Given the description of an element on the screen output the (x, y) to click on. 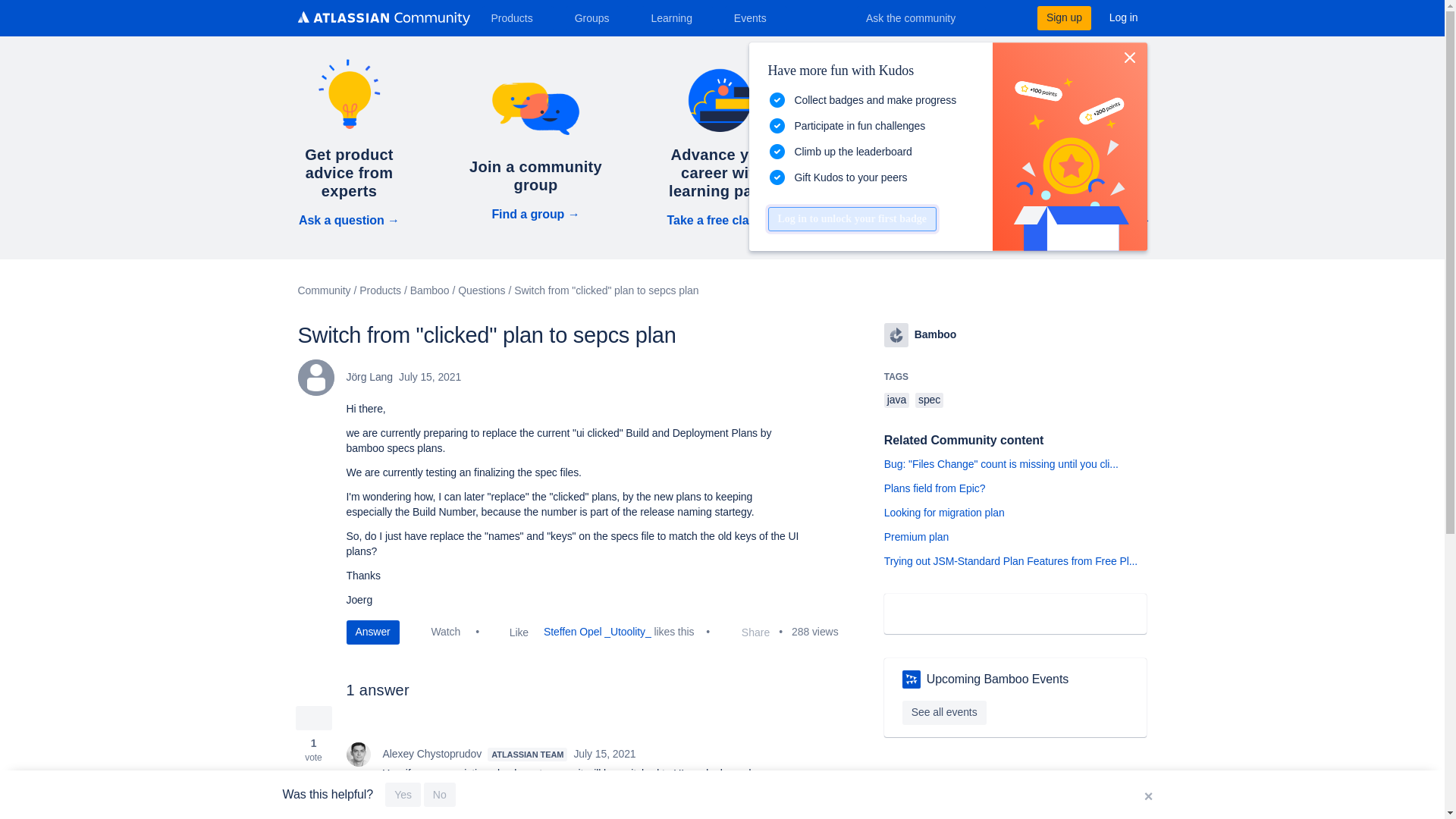
Groups (598, 17)
Atlassian Community logo (382, 18)
Atlassian Community logo (382, 19)
Log in (1123, 17)
Sign up (1063, 17)
Log in to unlock your first badge (851, 218)
Ask the community  (921, 17)
Products (517, 17)
Bamboo (895, 334)
AUG Leaders (911, 679)
